Given the description of an element on the screen output the (x, y) to click on. 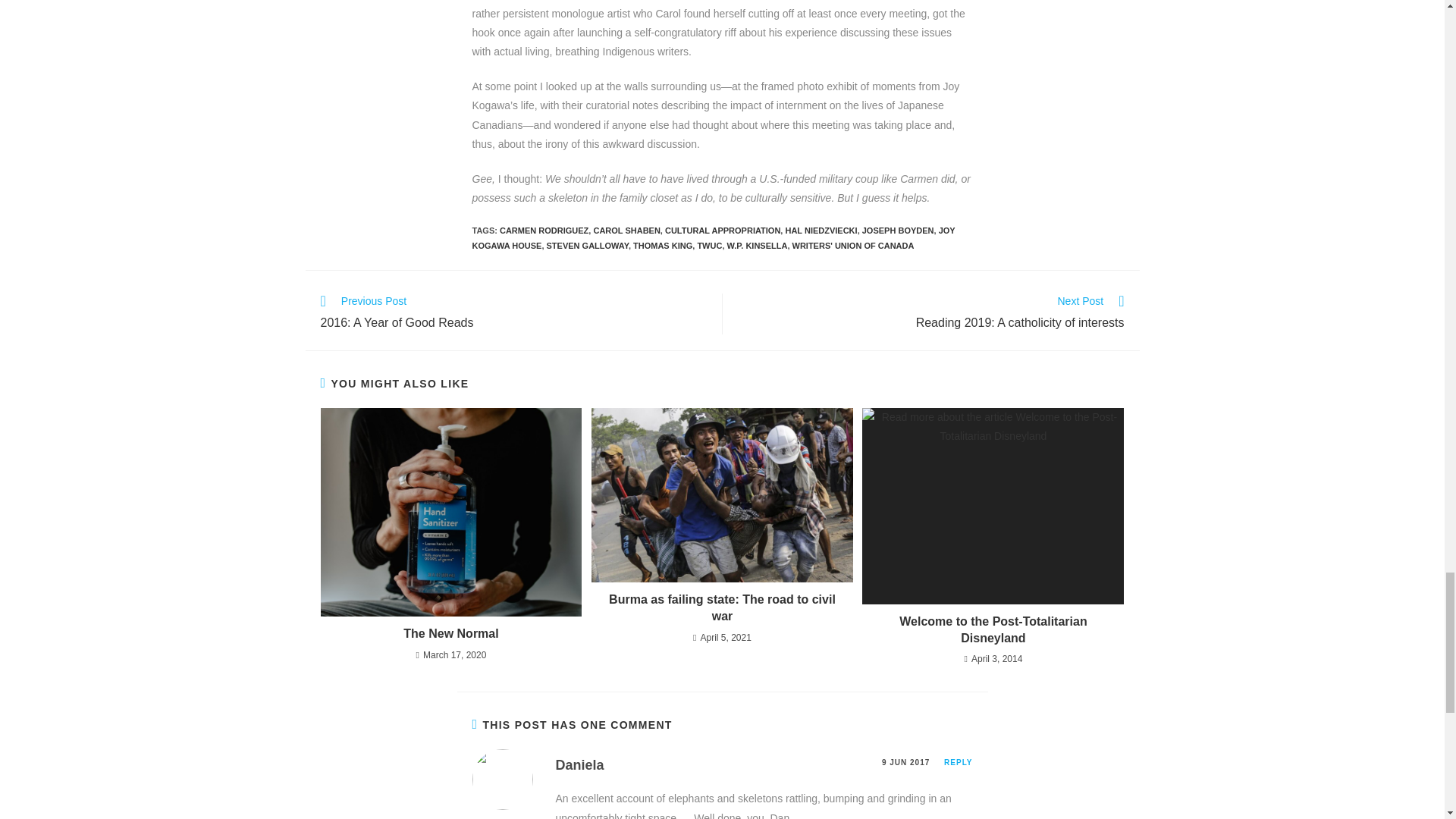
JOSEPH BOYDEN (897, 230)
THOMAS KING (663, 245)
CULTURAL APPROPRIATION (722, 230)
CARMEN RODRIGUEZ (543, 230)
REPLY (957, 762)
W.P. KINSELLA (756, 245)
TWUC (709, 245)
HAL NIEDZVIECKI (820, 230)
CAROL SHABEN (625, 230)
STEVEN GALLOWAY (513, 313)
JOY KOGAWA HOUSE (587, 245)
The New Normal (930, 313)
Burma as failing state: The road to civil war (713, 238)
